Given the description of an element on the screen output the (x, y) to click on. 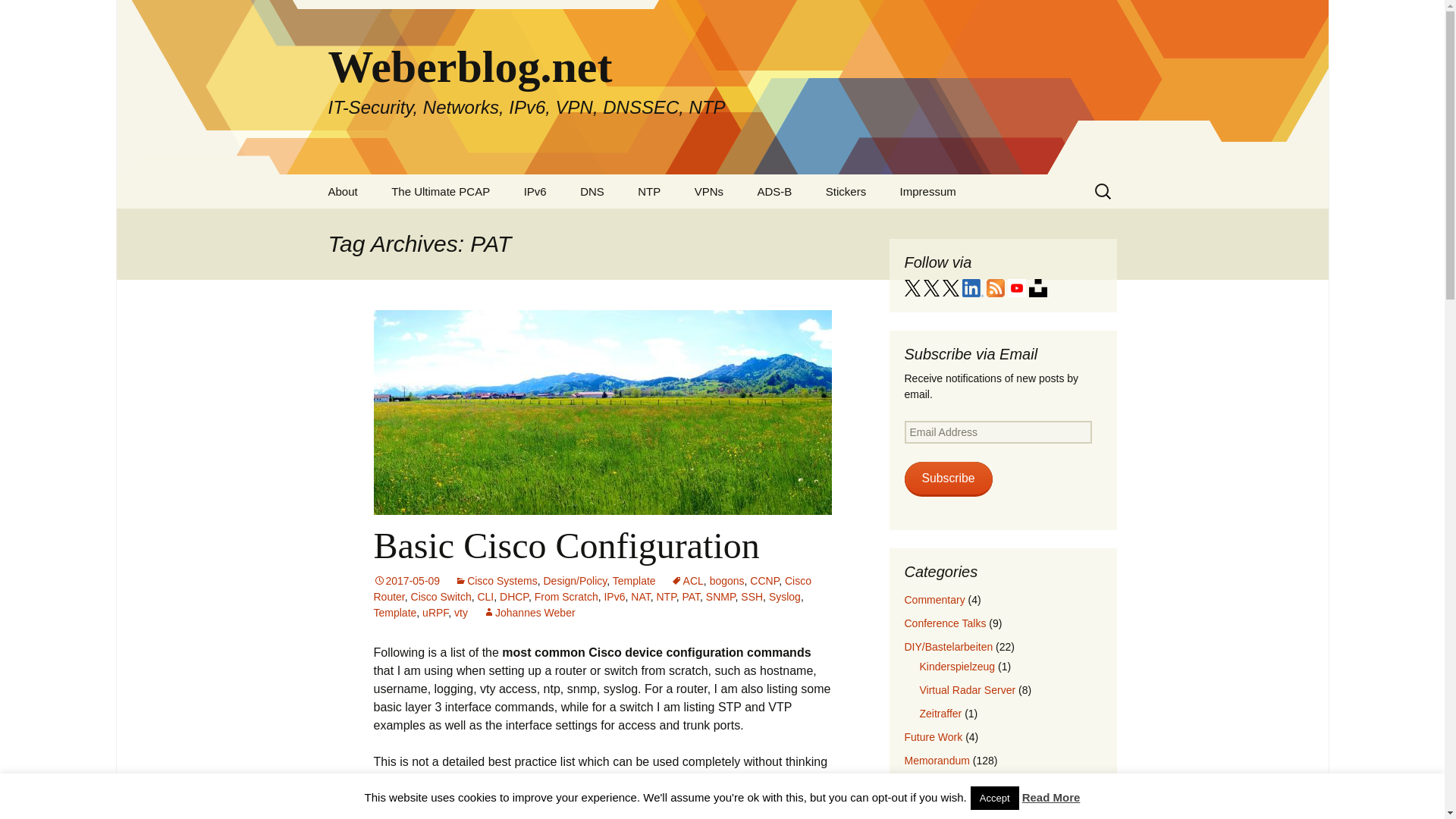
bogons (727, 580)
Cisco Systems (495, 580)
NTP (665, 596)
Permalink to Basic Cisco Configuration (405, 580)
Search (18, 15)
DHCP (513, 596)
Template (394, 612)
About (342, 191)
Cisco Switch (440, 596)
Datenschutz (960, 225)
Basic Cisco Configuration (565, 545)
NAT (639, 596)
CLI (485, 596)
The Ultimate PCAP (440, 191)
